Given the description of an element on the screen output the (x, y) to click on. 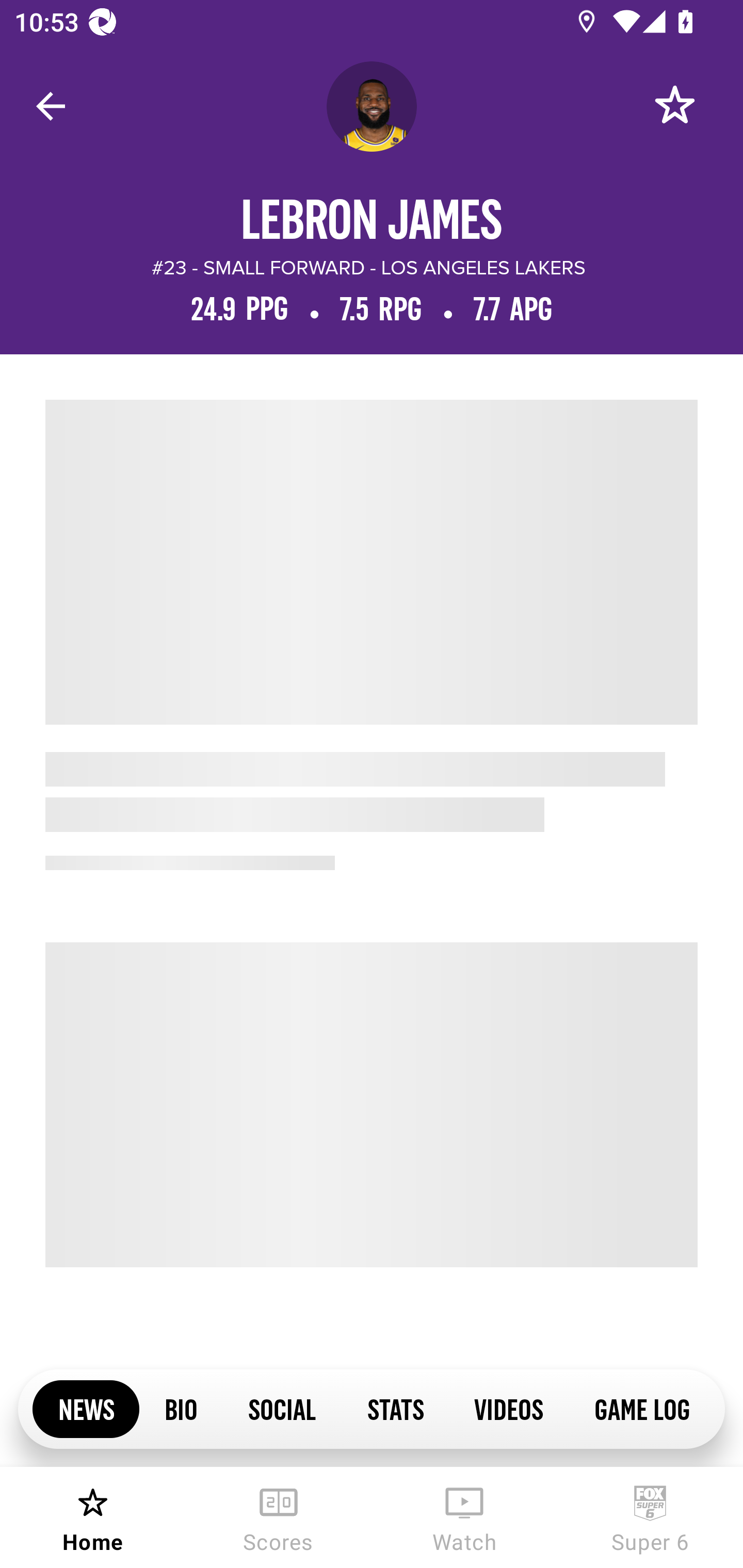
Navigate up (50, 106)
#23 - SMALL FORWARD - LOS ANGELES LAKERS (368, 267)
BIO (180, 1408)
SOCIAL (281, 1408)
STATS (394, 1408)
VIDEOS (508, 1408)
GAME LOG (641, 1408)
Scores (278, 1517)
Watch (464, 1517)
Super 6 (650, 1517)
